Given the description of an element on the screen output the (x, y) to click on. 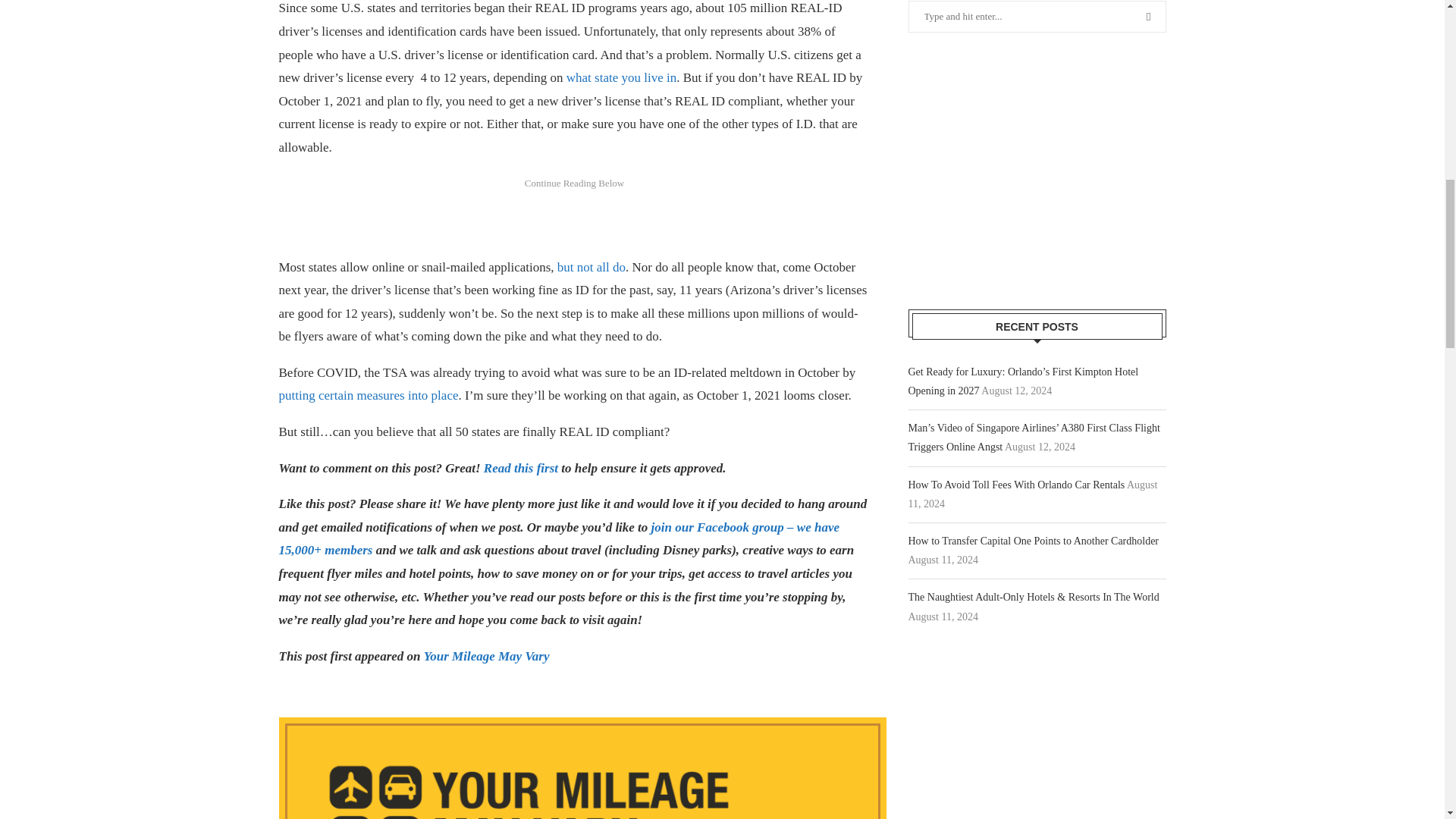
putting certain measures into place (368, 395)
but not all do (591, 266)
Read this first (520, 468)
what state you live in (621, 77)
